Given the description of an element on the screen output the (x, y) to click on. 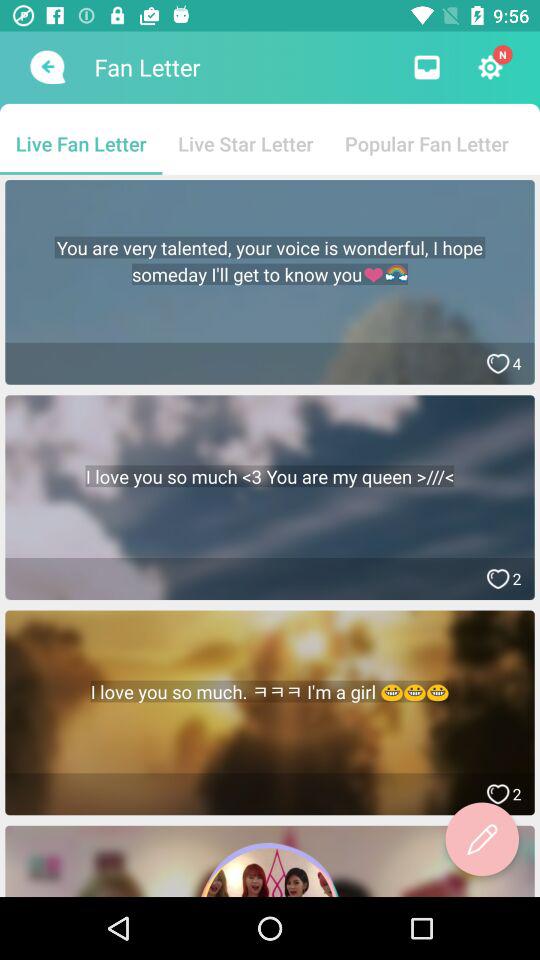
edit (482, 839)
